Given the description of an element on the screen output the (x, y) to click on. 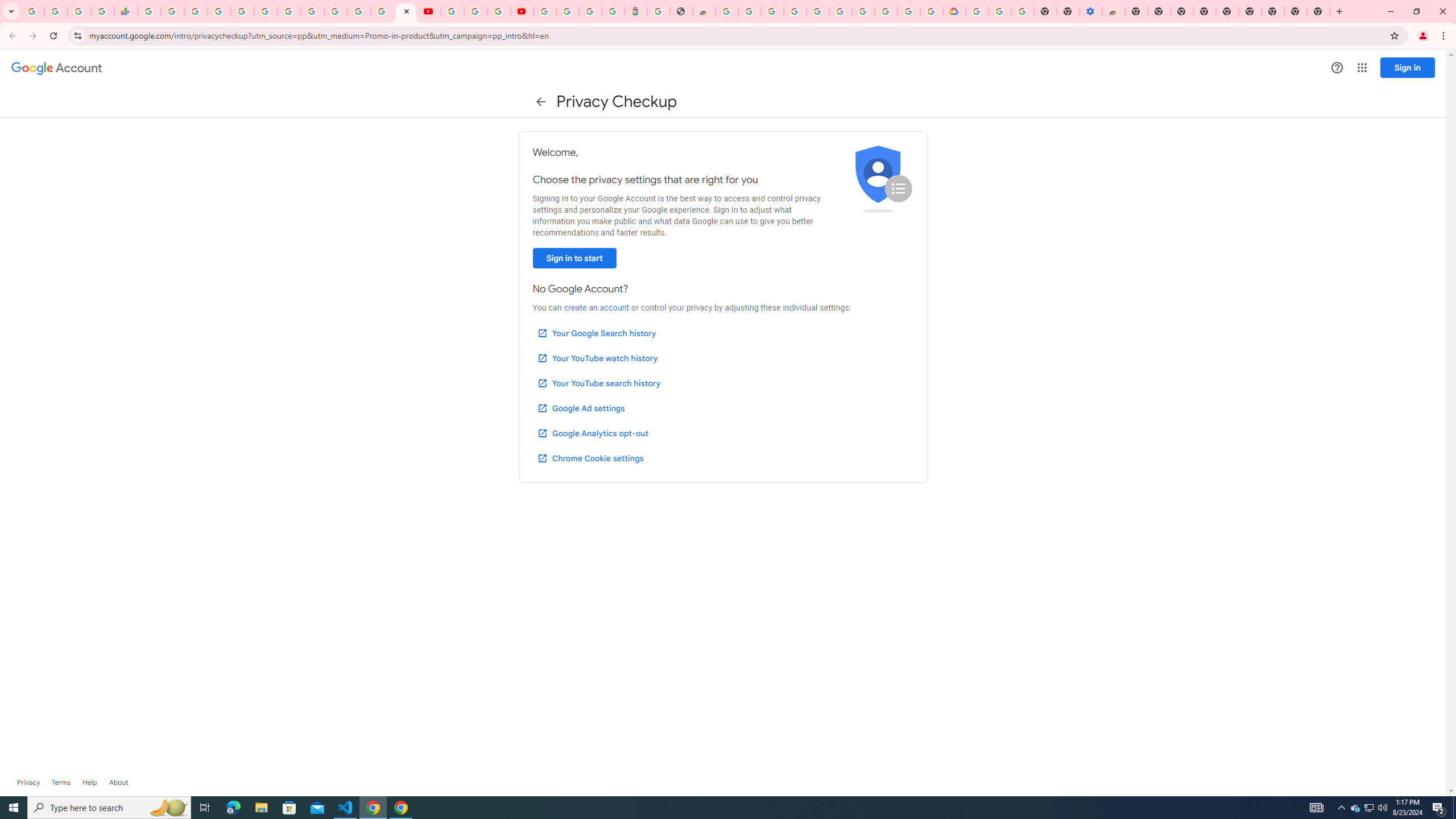
Create your Google Account (498, 11)
YouTube (451, 11)
New Tab (1136, 11)
Google Analytics opt-out (592, 433)
Sign in to start (573, 258)
Google Account Help (475, 11)
